Given the description of an element on the screen output the (x, y) to click on. 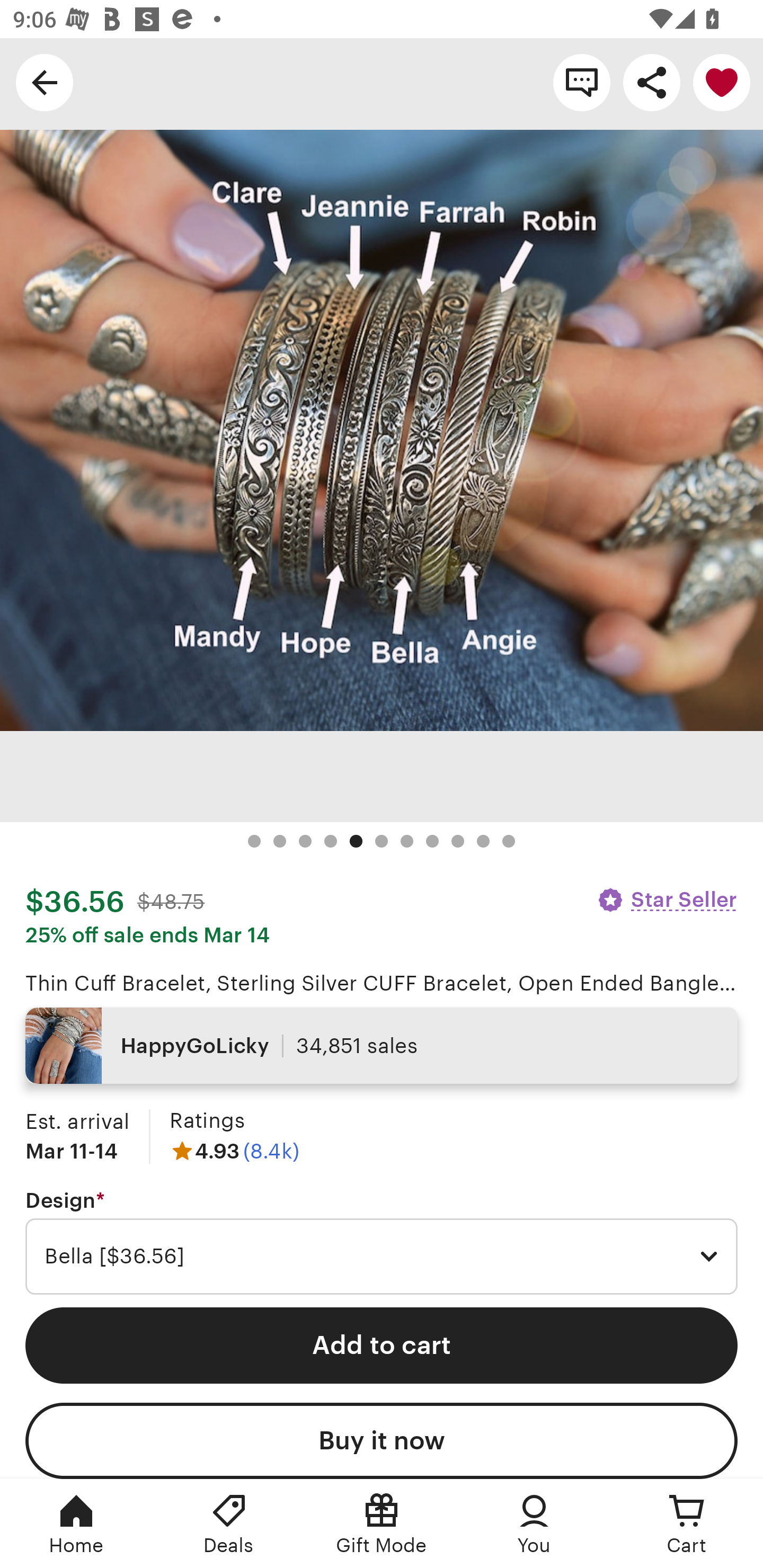
Navigate up (44, 81)
Contact shop (581, 81)
Share (651, 81)
Star Seller (666, 899)
HappyGoLicky 34,851 sales (381, 1045)
Ratings (206, 1120)
4.93 (8.4k) (234, 1150)
Design * Required Bella [$36.56] (381, 1241)
Bella [$36.56] (381, 1256)
Add to cart (381, 1344)
Buy it now (381, 1440)
Deals (228, 1523)
Gift Mode (381, 1523)
You (533, 1523)
Cart (686, 1523)
